Given the description of an element on the screen output the (x, y) to click on. 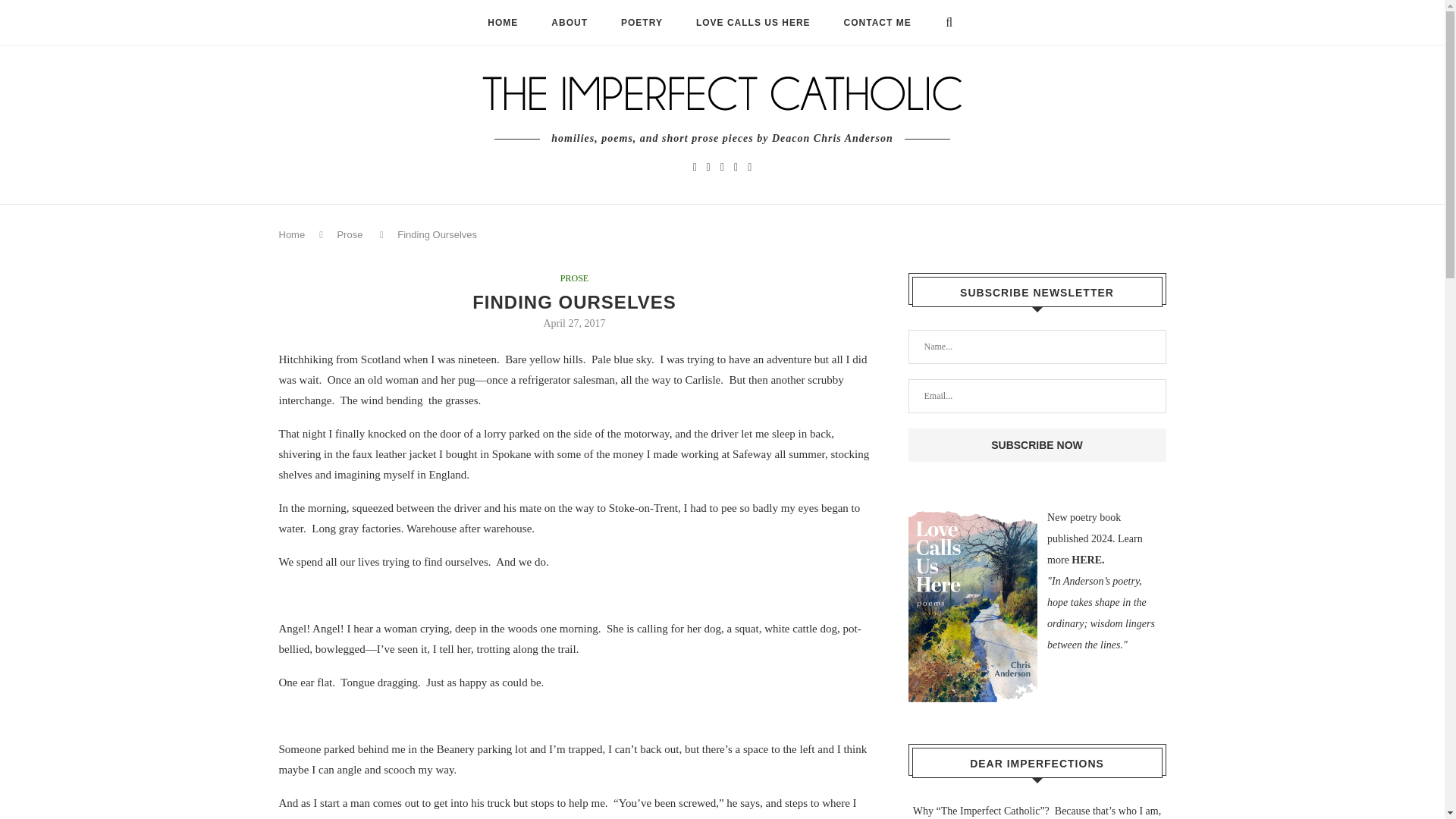
Subscribe Now (1037, 444)
PROSE (574, 277)
Home (292, 234)
Prose (349, 234)
View all posts in Prose (574, 277)
CONTACT ME (877, 22)
LOVE CALLS US HERE (752, 22)
POETRY (641, 22)
